Given the description of an element on the screen output the (x, y) to click on. 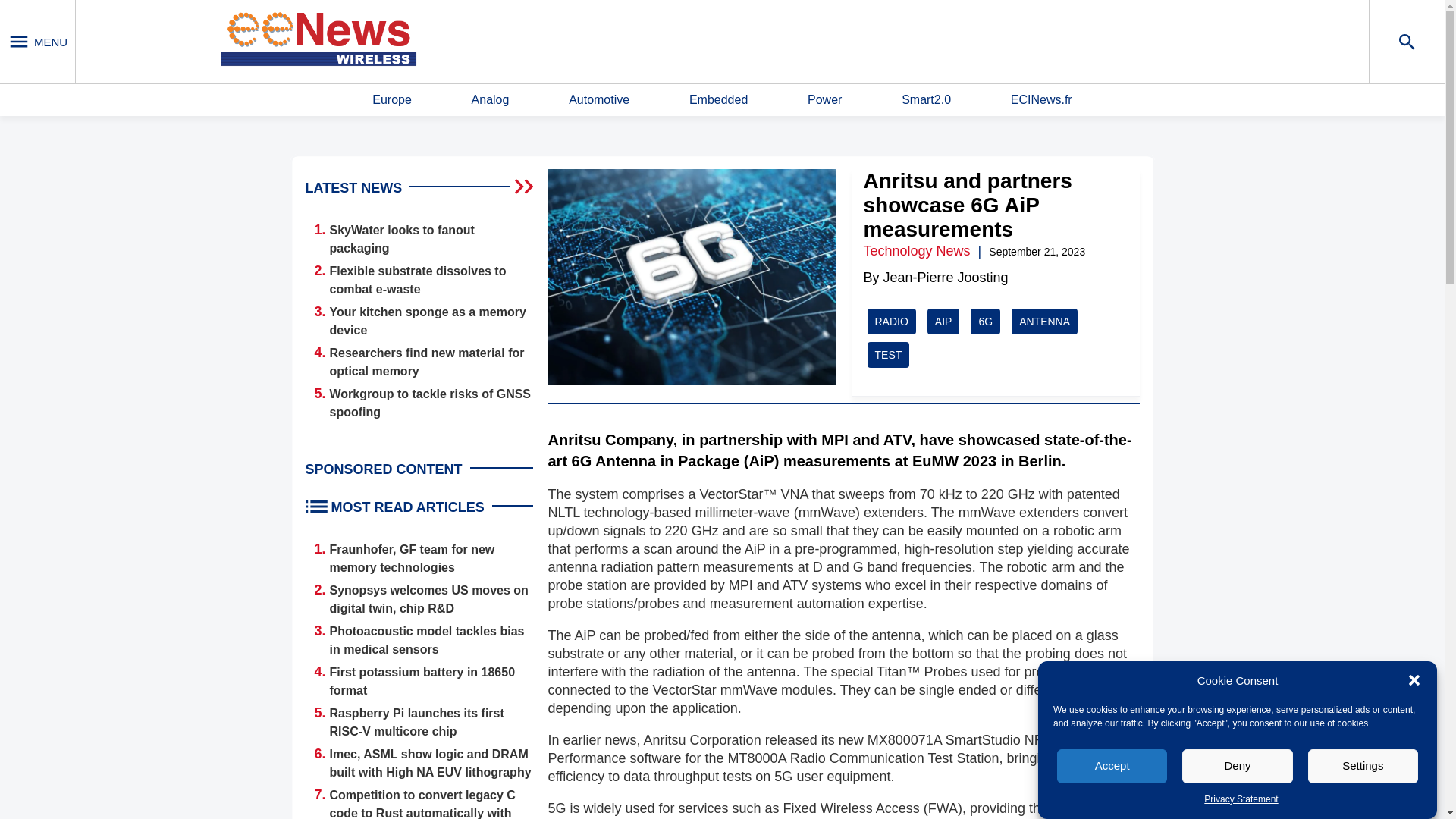
Automotive (598, 99)
Power (824, 99)
Europe (392, 99)
ECINews.fr (1040, 99)
Smart2.0 (925, 99)
Embedded (718, 99)
Analog (490, 99)
